Given the description of an element on the screen output the (x, y) to click on. 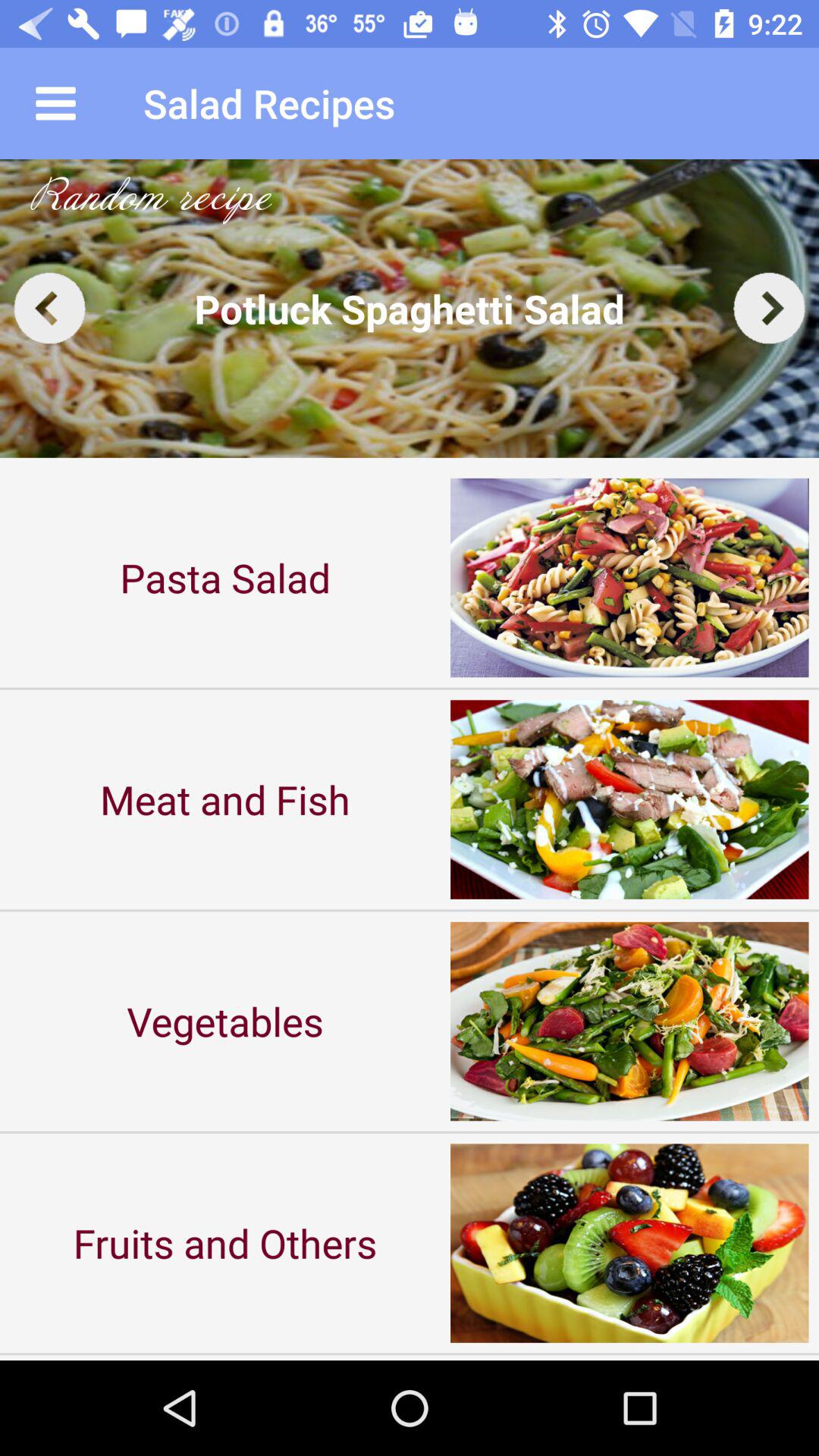
turn on the item above the pasta salad item (409, 308)
